Given the description of an element on the screen output the (x, y) to click on. 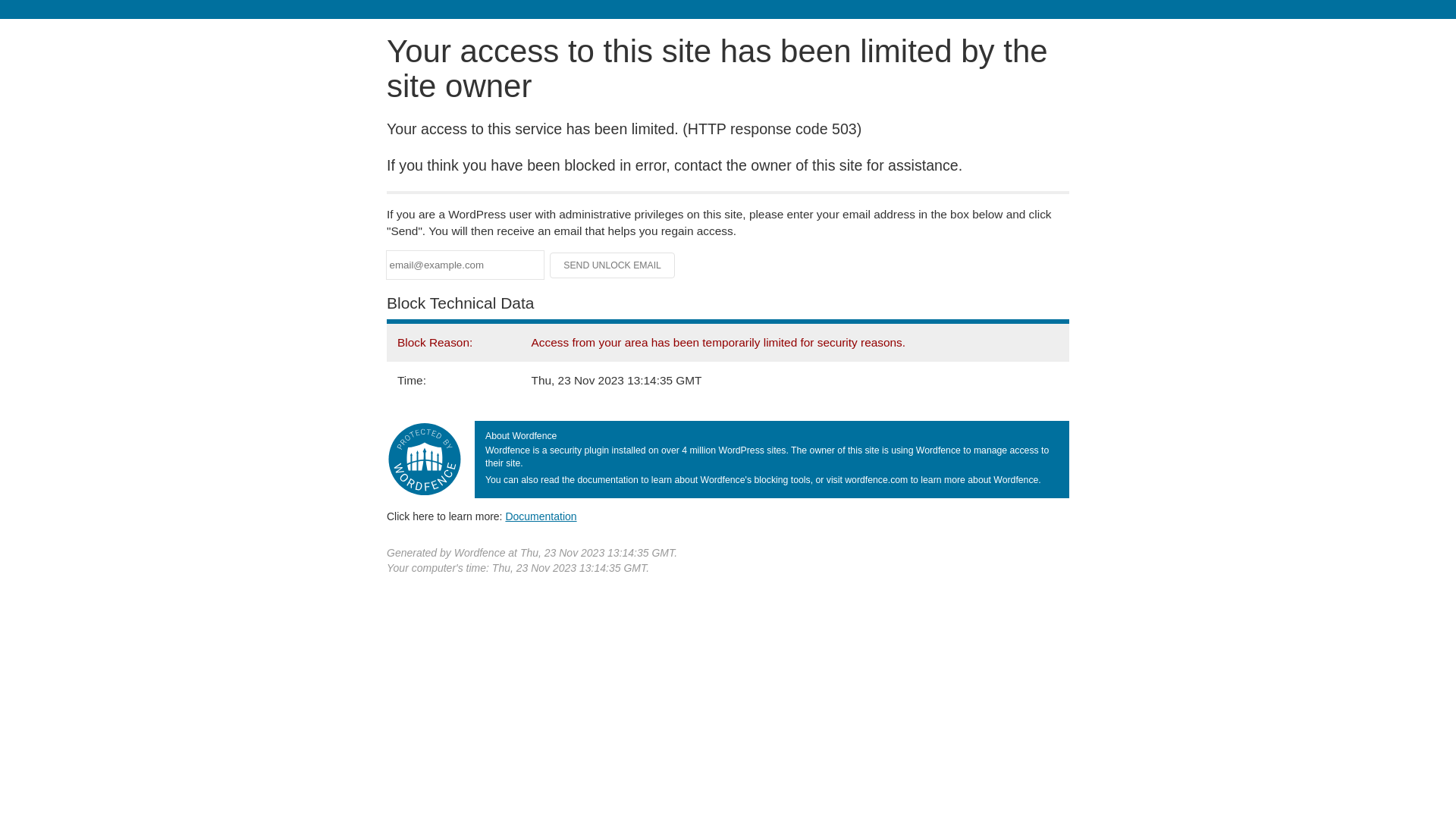
Documentation Element type: text (540, 516)
Send Unlock Email Element type: text (612, 265)
